Given the description of an element on the screen output the (x, y) to click on. 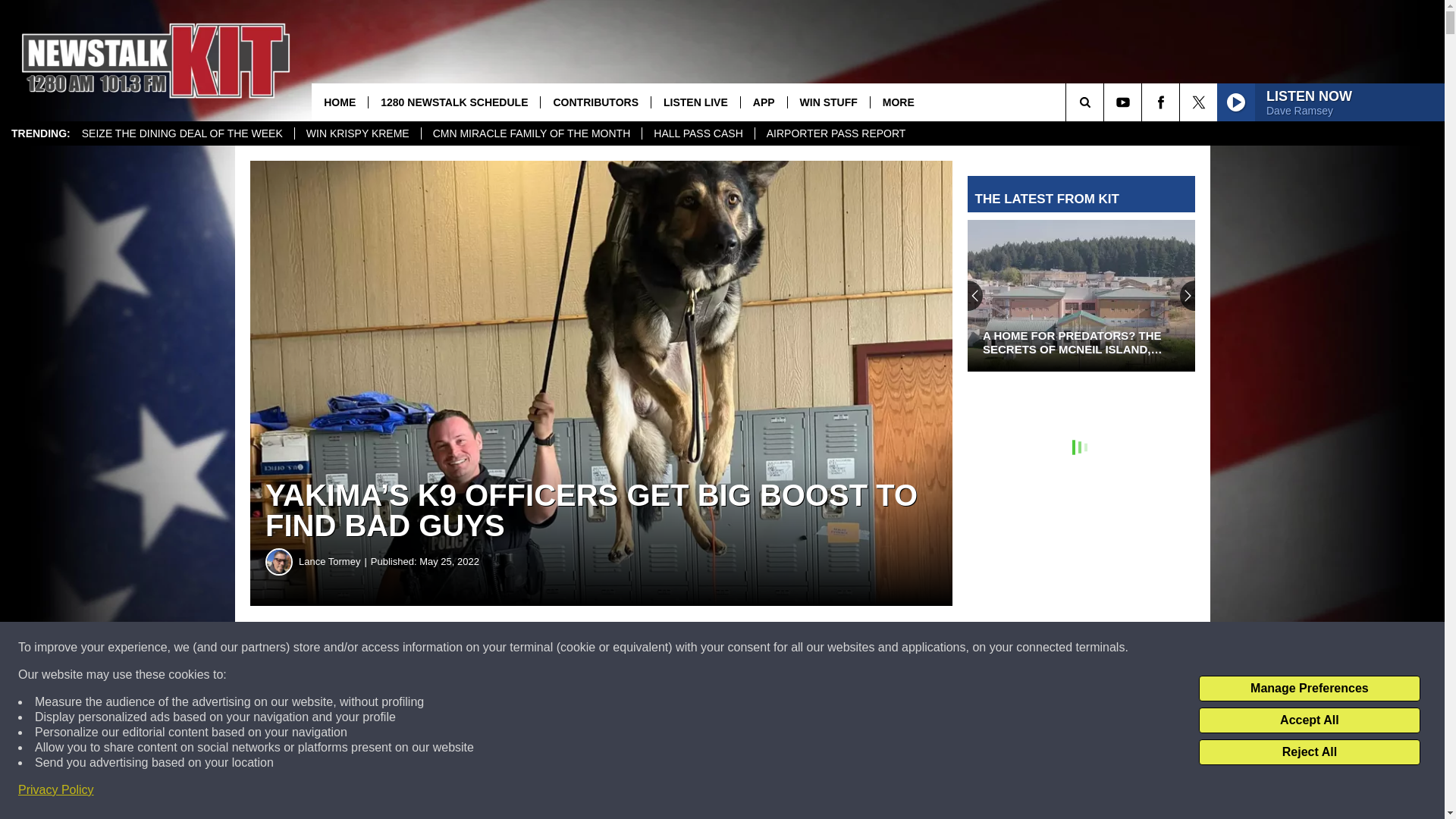
SEARCH (1106, 102)
Reject All (1309, 751)
Privacy Policy (55, 789)
SEARCH (1106, 102)
SEIZE THE DINING DEAL OF THE WEEK (181, 133)
CONTRIBUTORS (595, 102)
CMN MIRACLE FAMILY OF THE MONTH (531, 133)
1280 NEWSTALK SCHEDULE (454, 102)
Share on Facebook (460, 647)
HALL PASS CASH (698, 133)
